Given the description of an element on the screen output the (x, y) to click on. 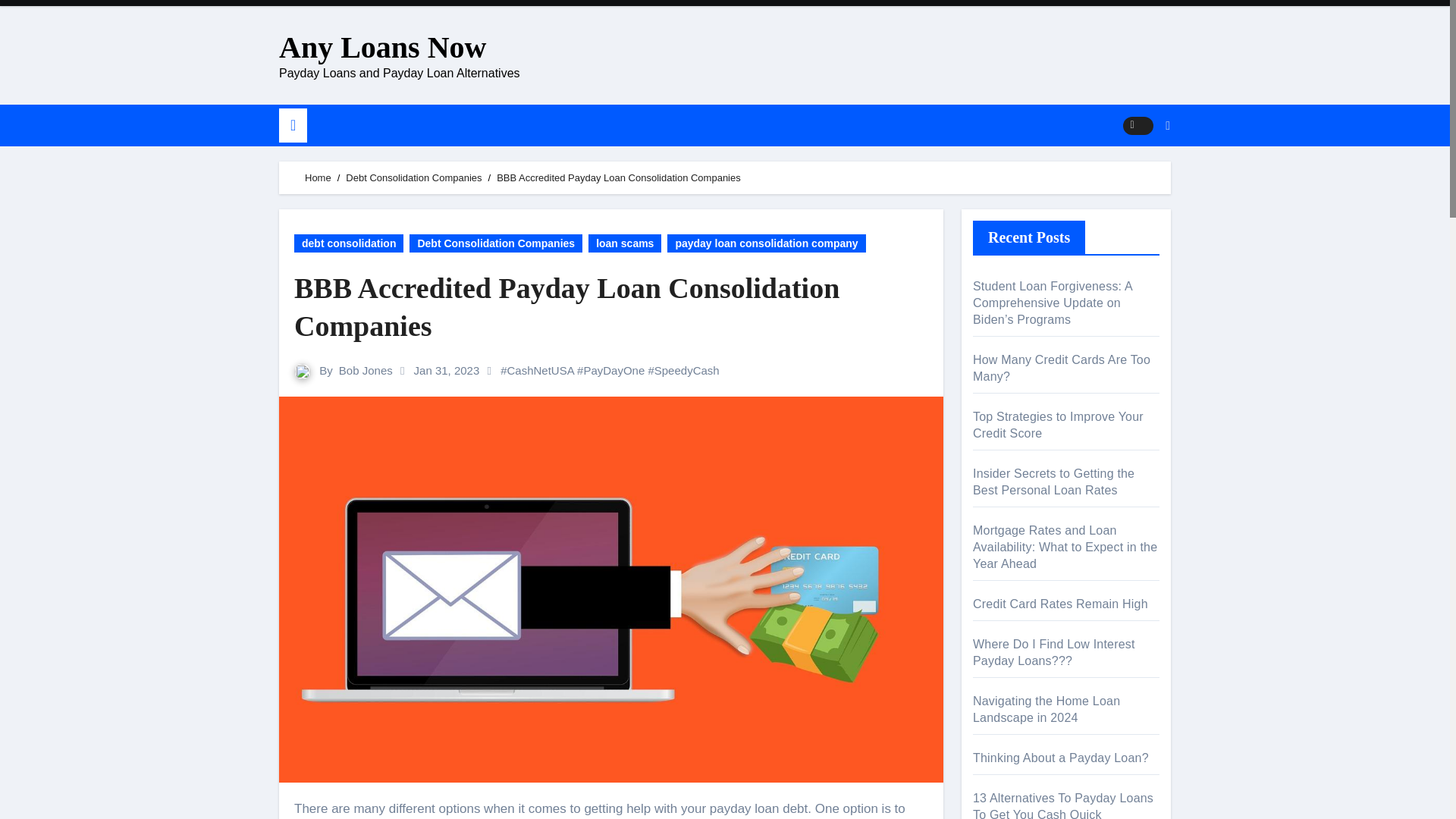
loan scams (624, 243)
Jan 31, 2023 (448, 369)
payday loan consolidation company (765, 243)
How Many Credit Cards Are Too Many? (1061, 367)
Bob Jones (366, 369)
PayDayOne (614, 369)
Home (317, 177)
CashNetUSA (539, 369)
debt consolidation (348, 243)
Debt Consolidation Companies (495, 243)
